Given the description of an element on the screen output the (x, y) to click on. 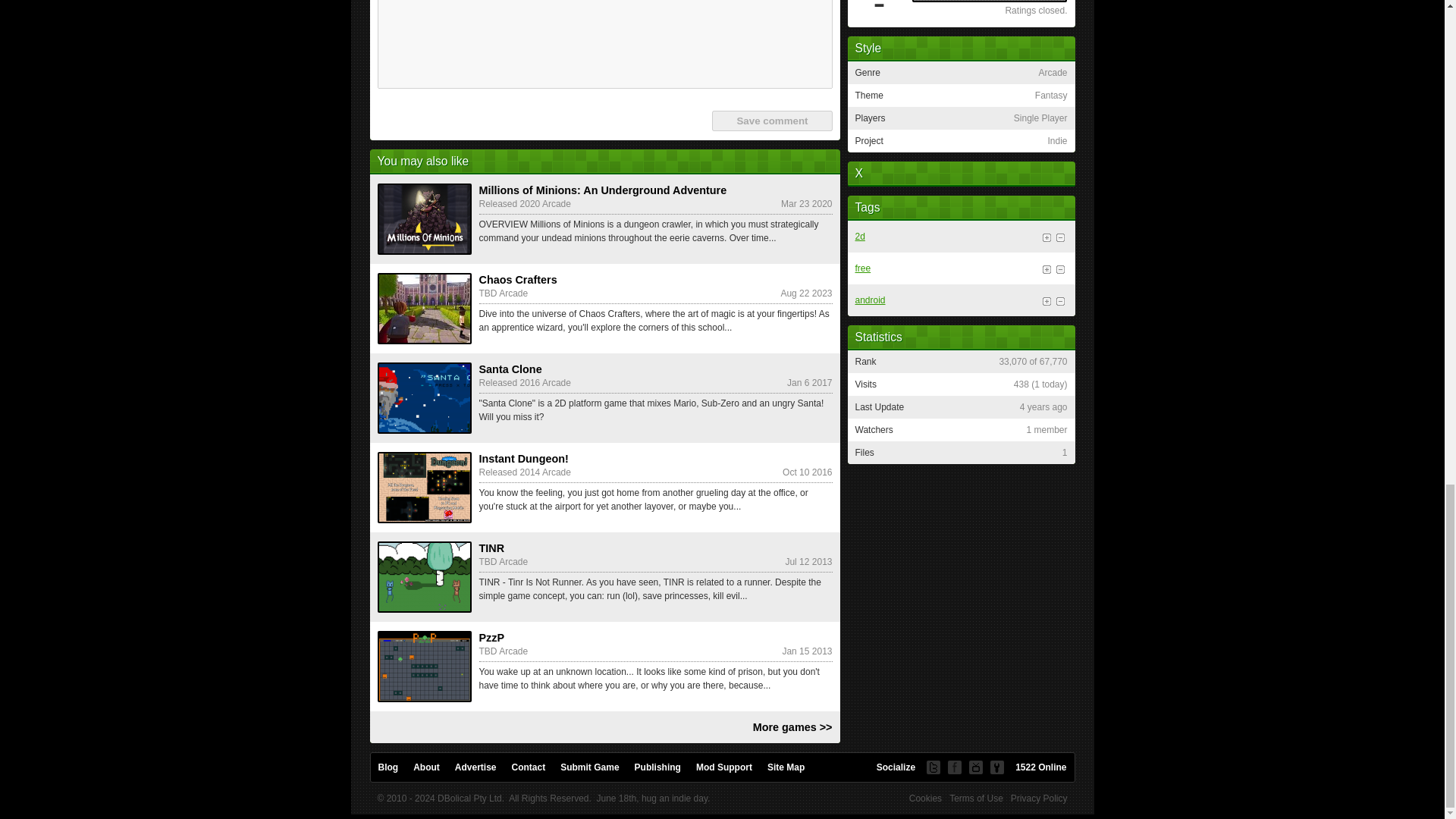
Save comment (771, 120)
